Given the description of an element on the screen output the (x, y) to click on. 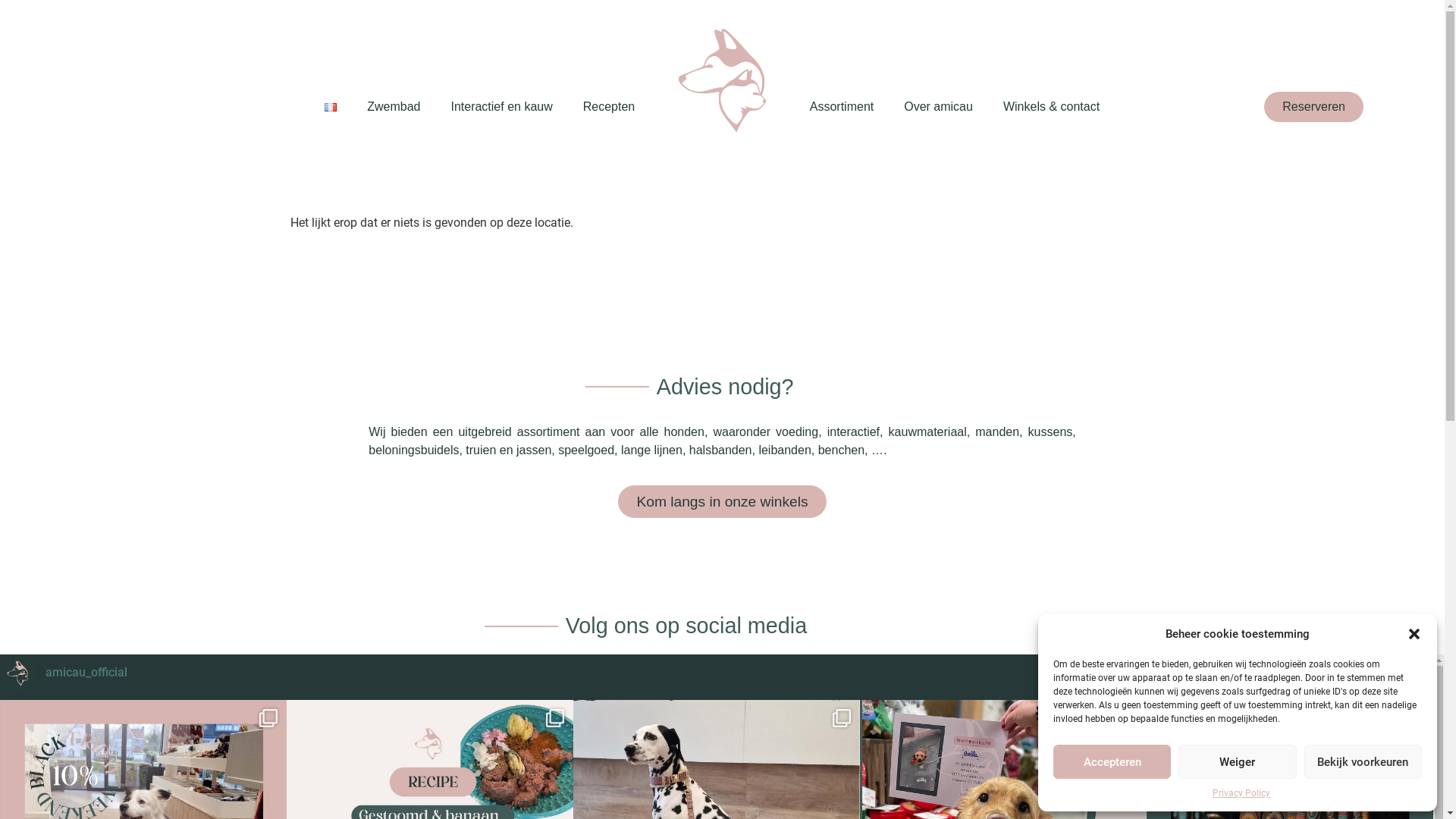
Assortiment Element type: text (841, 106)
Accepteren Element type: text (1111, 761)
Bekijk voorkeuren Element type: text (1362, 761)
Kom langs in onze winkels Element type: text (721, 501)
Over amicau Element type: text (938, 106)
Reserveren Element type: text (1313, 106)
Interactief en kauw Element type: text (501, 106)
Recepten Element type: text (608, 106)
Zwembad Element type: text (393, 106)
Weiger Element type: text (1236, 761)
amicau_official Element type: text (716, 673)
Winkels & contact Element type: text (1051, 106)
Privacy Policy Element type: text (1241, 793)
